Given the description of an element on the screen output the (x, y) to click on. 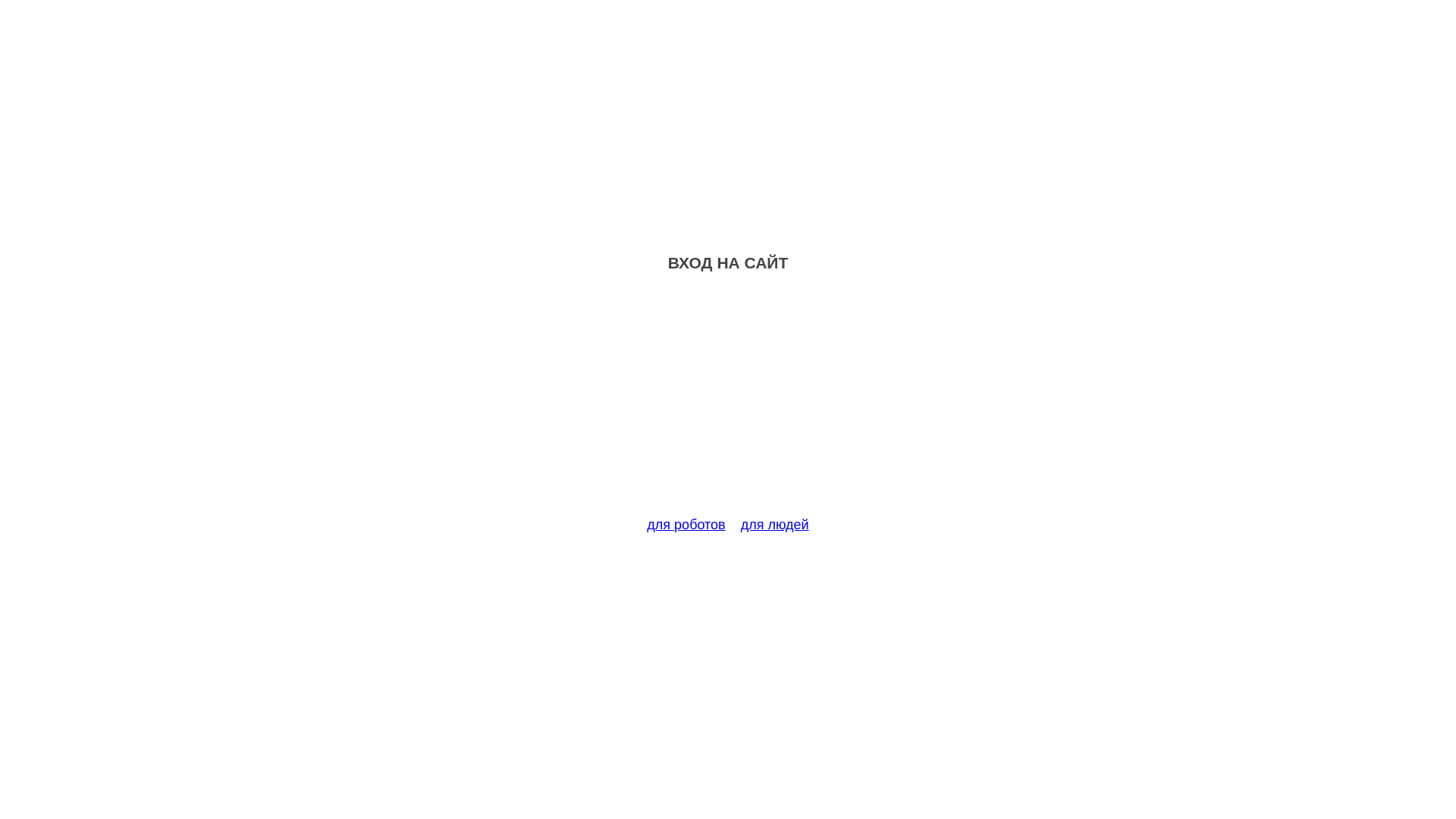
Advertisement Element type: hover (727, 403)
